Given the description of an element on the screen output the (x, y) to click on. 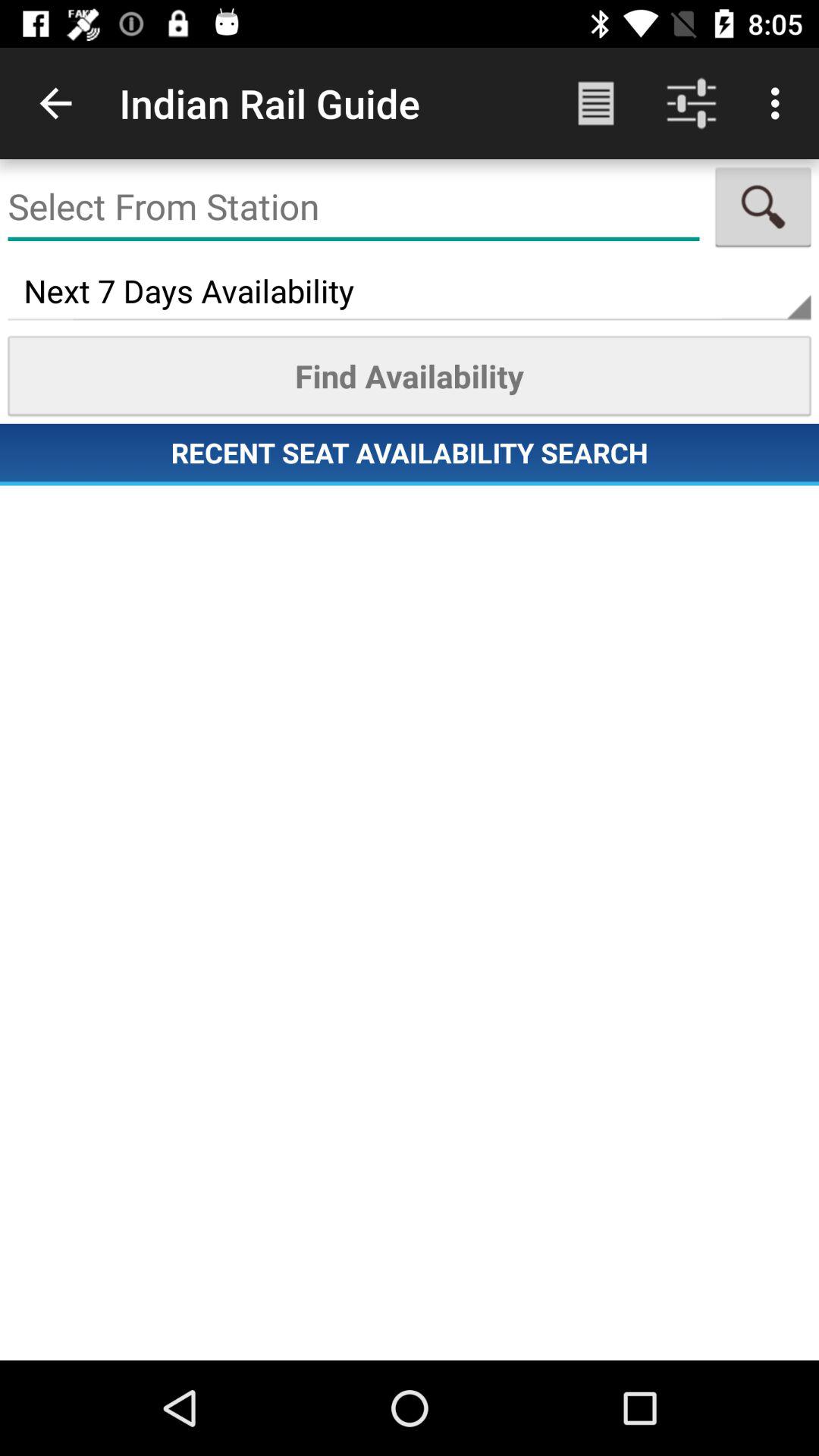
select the boarding point (353, 206)
